Given the description of an element on the screen output the (x, y) to click on. 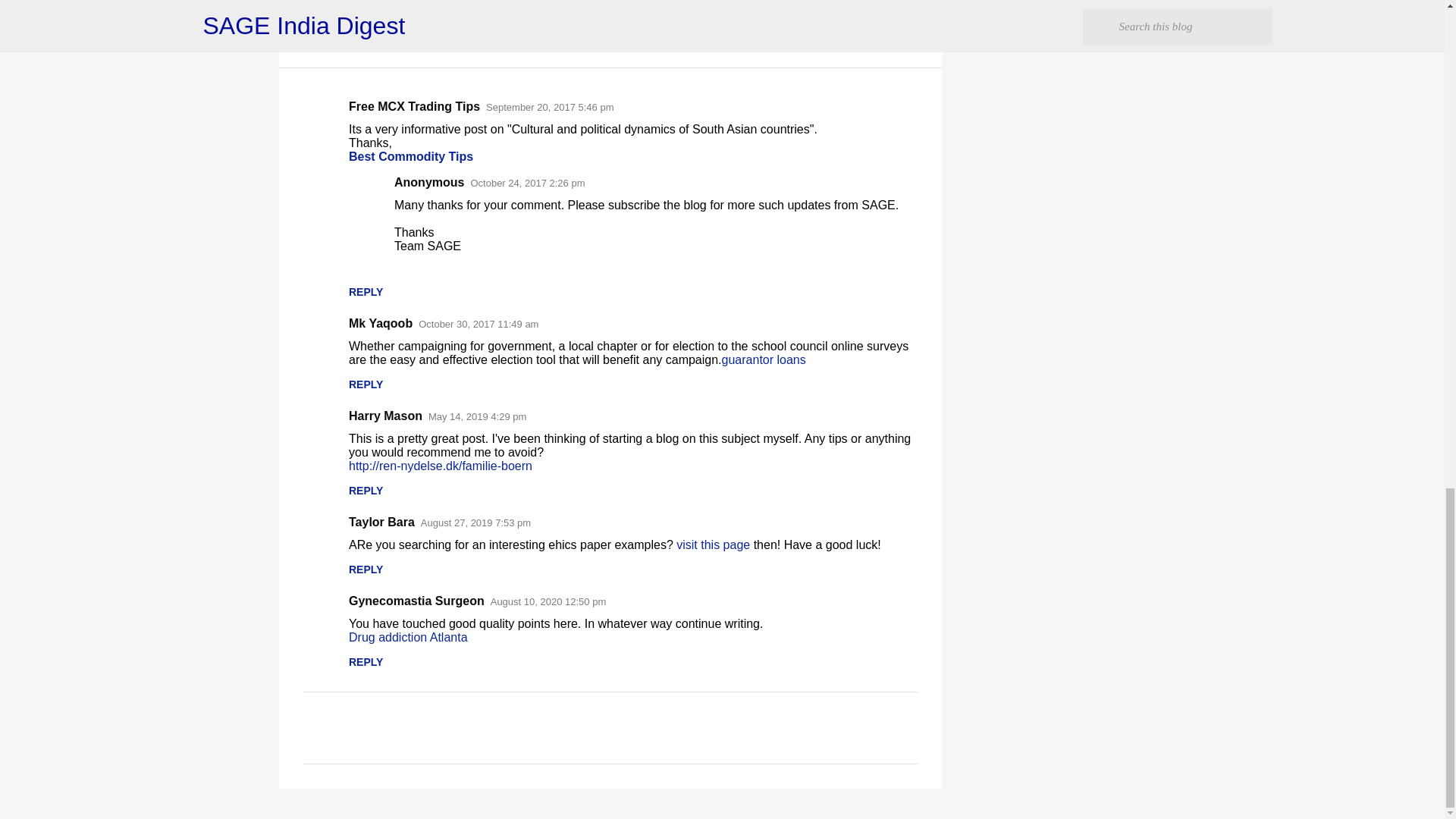
Best Commodity Tips (411, 155)
October 30, 2017 11:49 am (478, 324)
Free MCX Trading Tips (414, 106)
guarantor loans (764, 359)
REPLY (365, 490)
Harry Mason (385, 415)
May 14, 2019 4:29 pm (476, 416)
September 20, 2017 5:46 pm (549, 107)
REPLY (365, 291)
October 24, 2017 2:26 pm (527, 183)
